Given the description of an element on the screen output the (x, y) to click on. 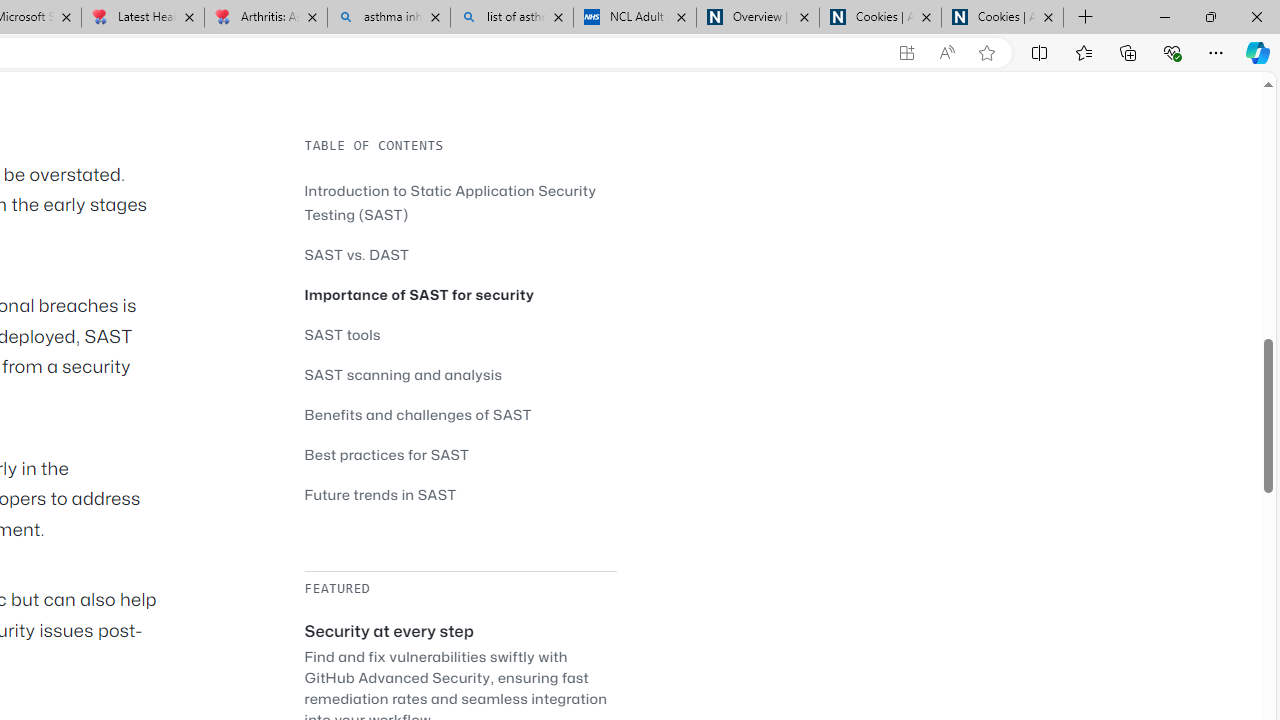
asthma inhaler - Search (388, 17)
SAST scanning and analysis (403, 374)
SAST vs. DAST (460, 254)
Introduction to Static Application Security Testing (SAST) (450, 202)
SAST tools (460, 334)
App available. Install GitHub (906, 53)
Future trends in SAST (380, 494)
Cookies | About | NICE (1002, 17)
Importance of SAST for security (419, 294)
